Given the description of an element on the screen output the (x, y) to click on. 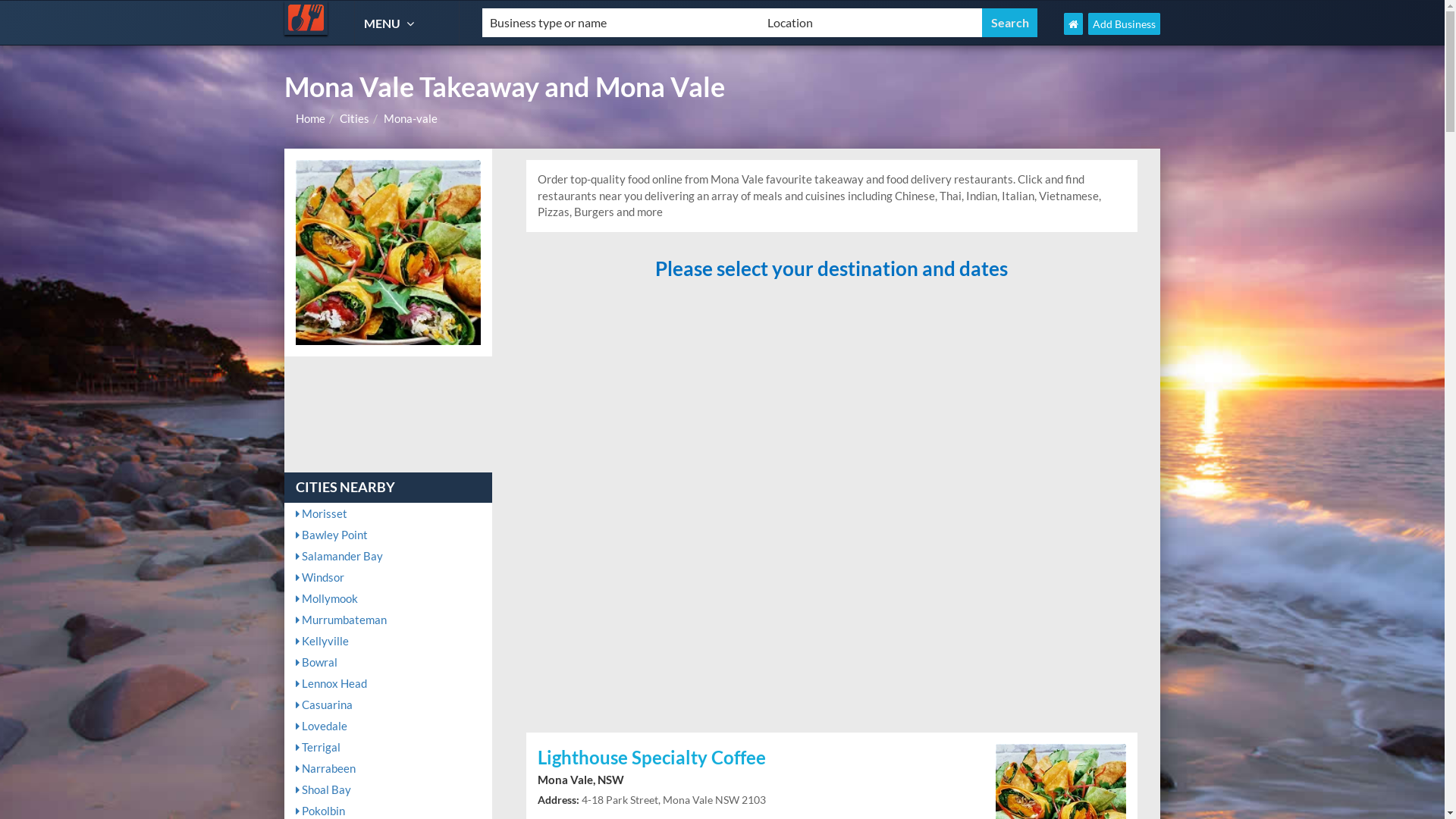
Mollymook Element type: text (388, 597)
Mona-vale Element type: text (410, 118)
Shoal Bay Element type: text (388, 789)
Narrabeen Element type: text (388, 767)
Terrigal Element type: text (388, 746)
Bawley Point Element type: text (388, 534)
Search Element type: text (1009, 22)
Lennox Head Element type: text (388, 682)
Restaurant Guide Home Page Element type: hover (1072, 23)
Casuarina Element type: text (388, 704)
Home Element type: text (310, 118)
Kellyville Element type: text (388, 640)
Lovedale Element type: text (388, 725)
Windsor Element type: text (388, 576)
Murrumbateman Element type: text (388, 619)
Advertisement Element type: hover (831, 507)
Lighthouse Specialty Coffee, Mona Vale Element type: hover (1060, 806)
MENU Element type: text (390, 22)
Restaurant Guide Element type: hover (305, 17)
Lighthouse Specialty Coffee Element type: text (755, 758)
Add Business Element type: text (1124, 23)
Morisset Element type: text (388, 513)
Cities Element type: text (354, 118)
Bowral Element type: text (388, 661)
Salamander Bay Element type: text (388, 555)
